Given the description of an element on the screen output the (x, y) to click on. 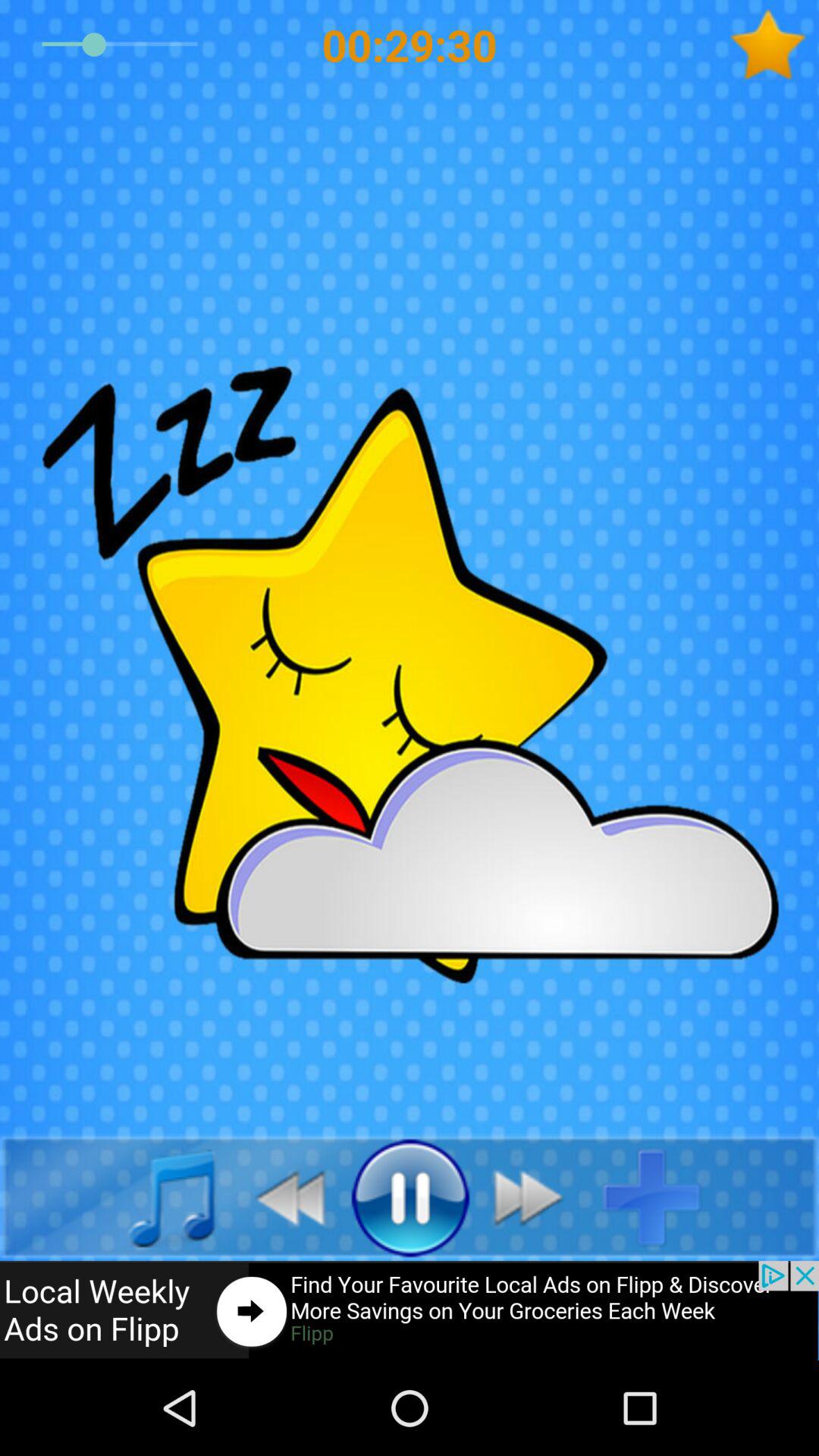
music app (154, 1196)
